Given the description of an element on the screen output the (x, y) to click on. 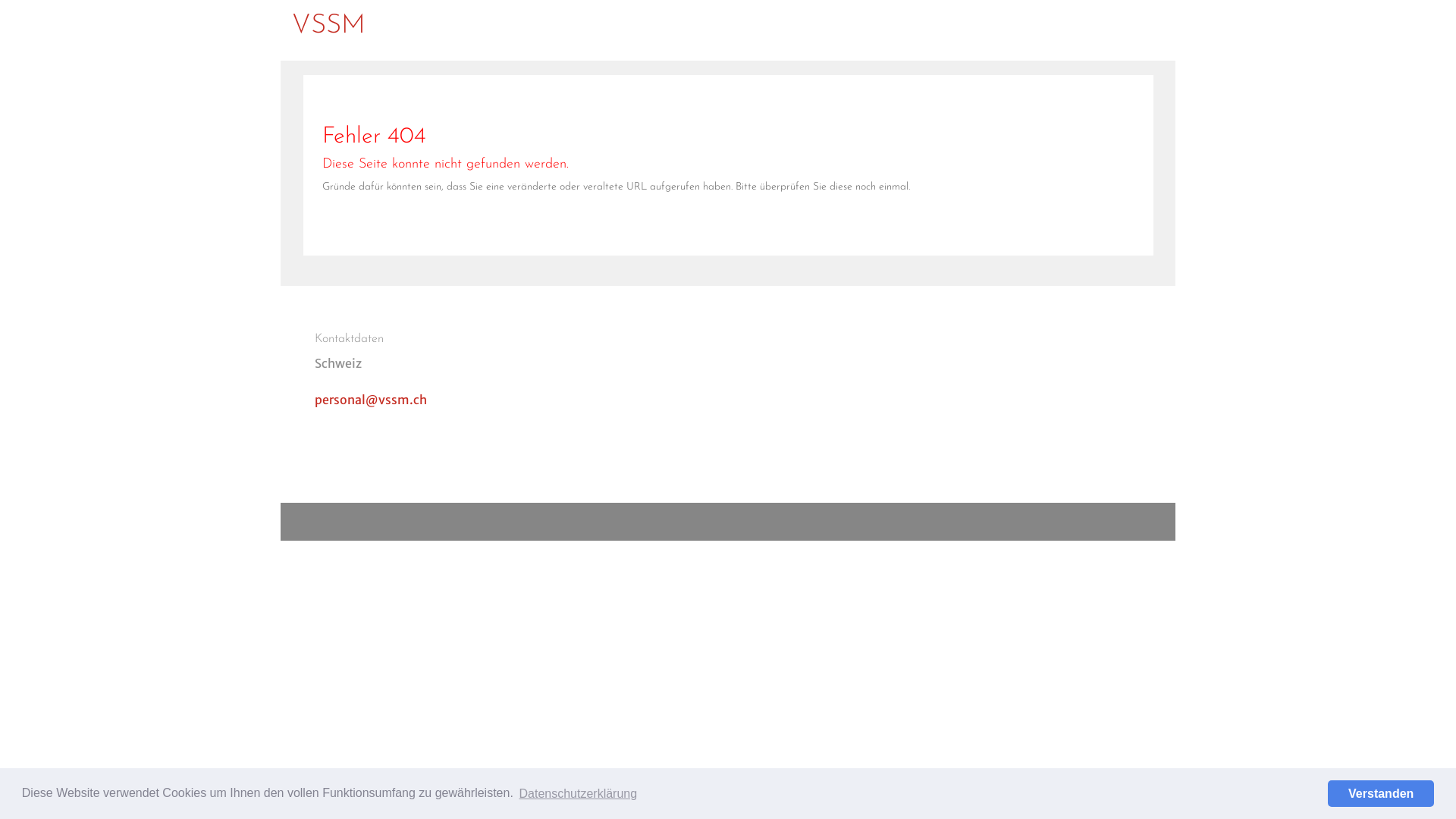
VSSM Element type: text (328, 29)
personal@vssm.ch Element type: text (369, 399)
Verstanden Element type: text (1380, 793)
